Given the description of an element on the screen output the (x, y) to click on. 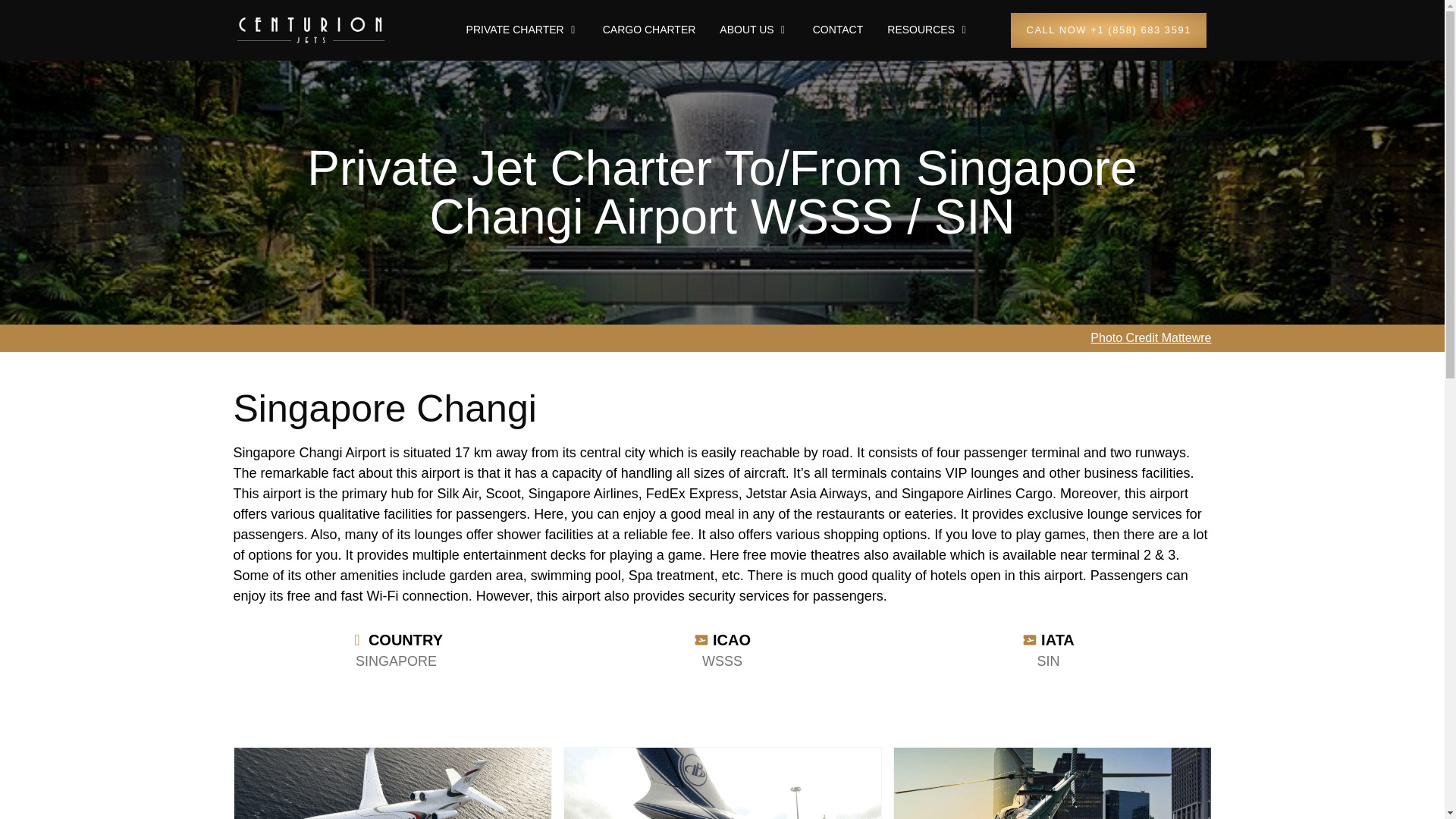
CONTACT (837, 29)
CARGO CHARTER (648, 29)
ABOUT US (746, 29)
